Given the description of an element on the screen output the (x, y) to click on. 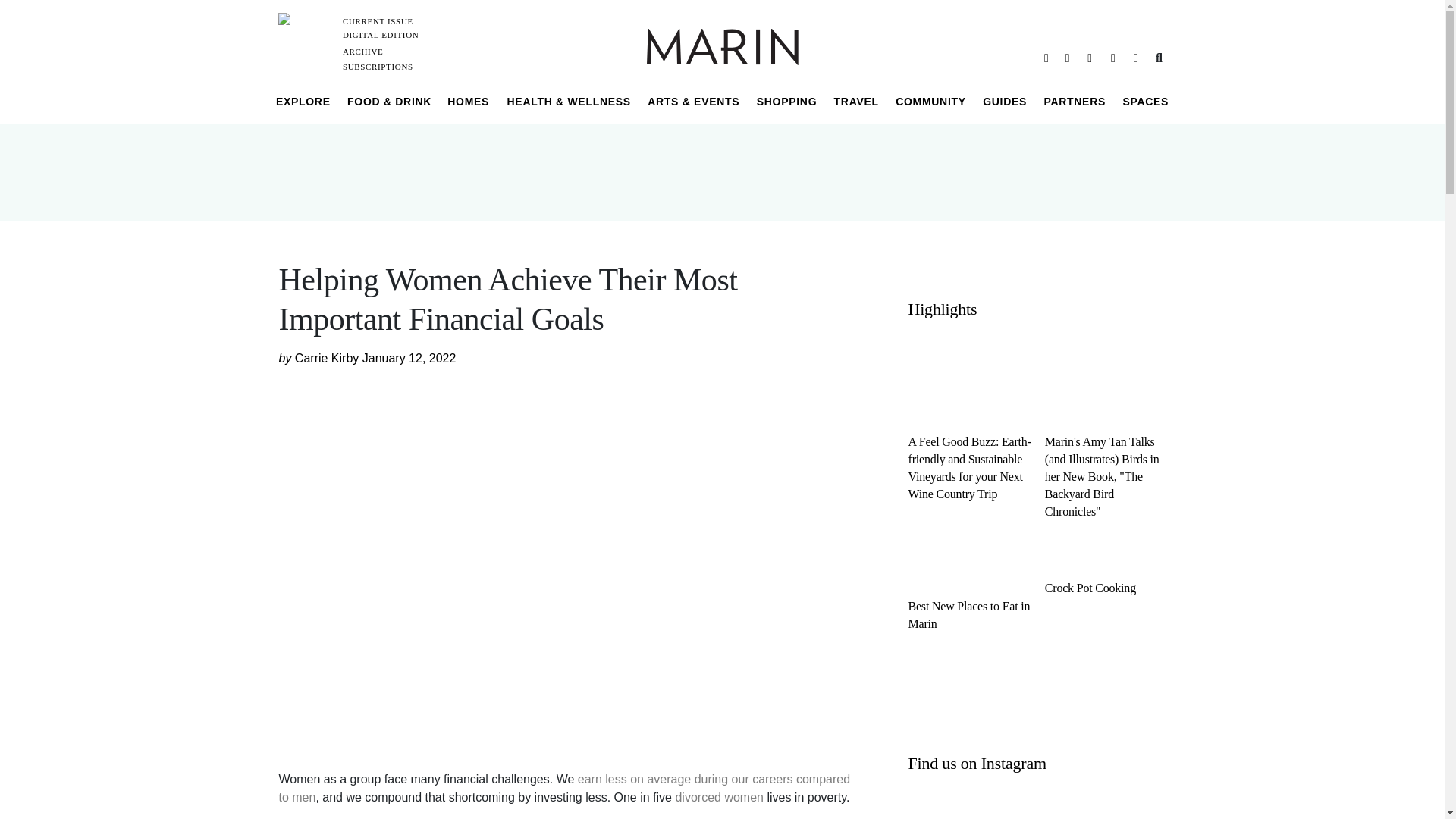
EXPLORE (303, 102)
SUBSCRIPTIONS (377, 66)
DIGITAL EDITION (380, 34)
HOMES (468, 102)
ARCHIVE (362, 51)
CURRENT ISSUE (377, 20)
